Given the description of an element on the screen output the (x, y) to click on. 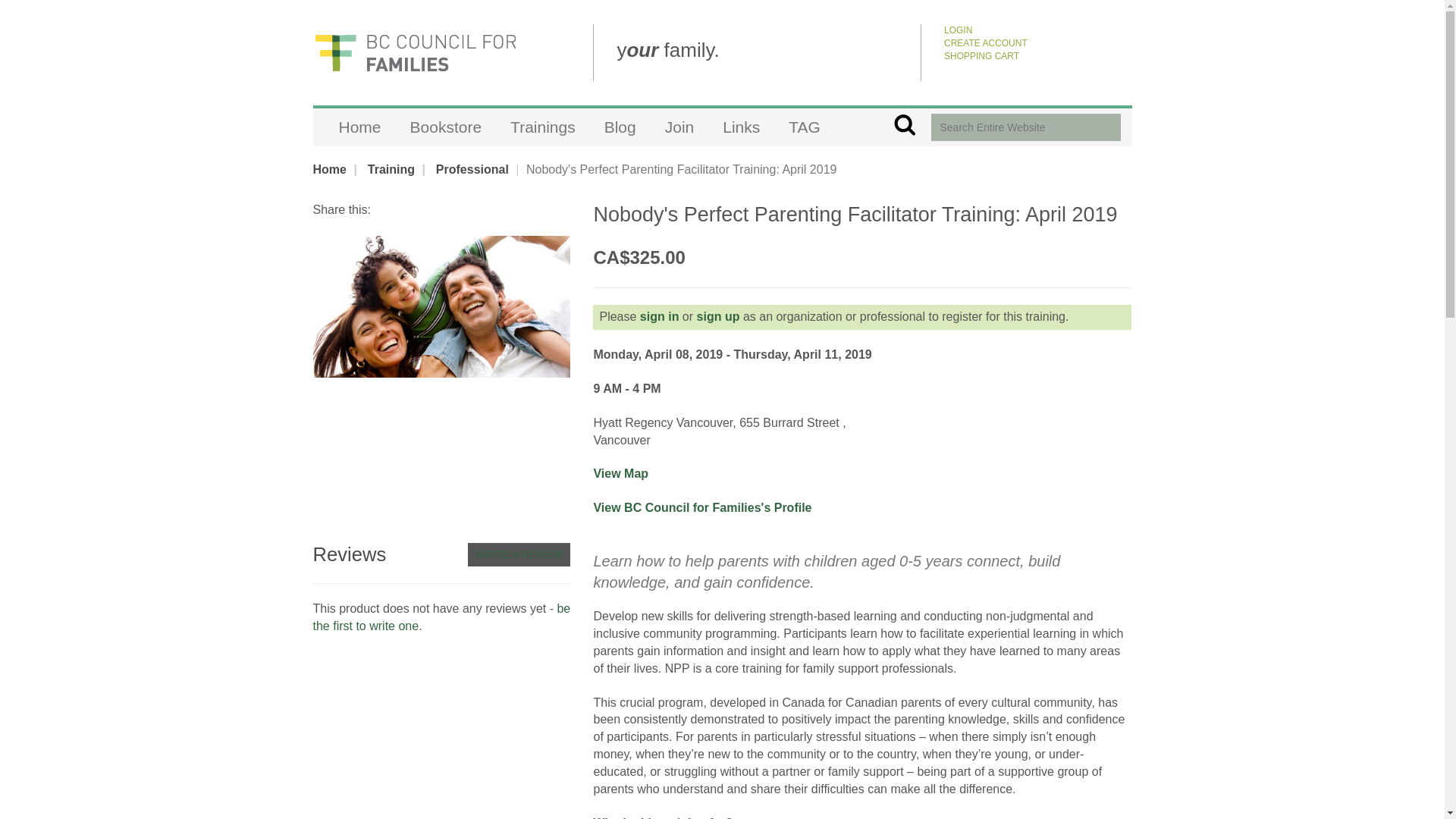
Trainings (542, 127)
BCCF Shop (414, 52)
be the first to write one (441, 616)
View Map (619, 472)
SHOPPING CART (981, 55)
LOGIN (957, 30)
Home (360, 127)
sign in (659, 316)
TAG (804, 127)
View BC Council for Families's Profile (701, 507)
